Given the description of an element on the screen output the (x, y) to click on. 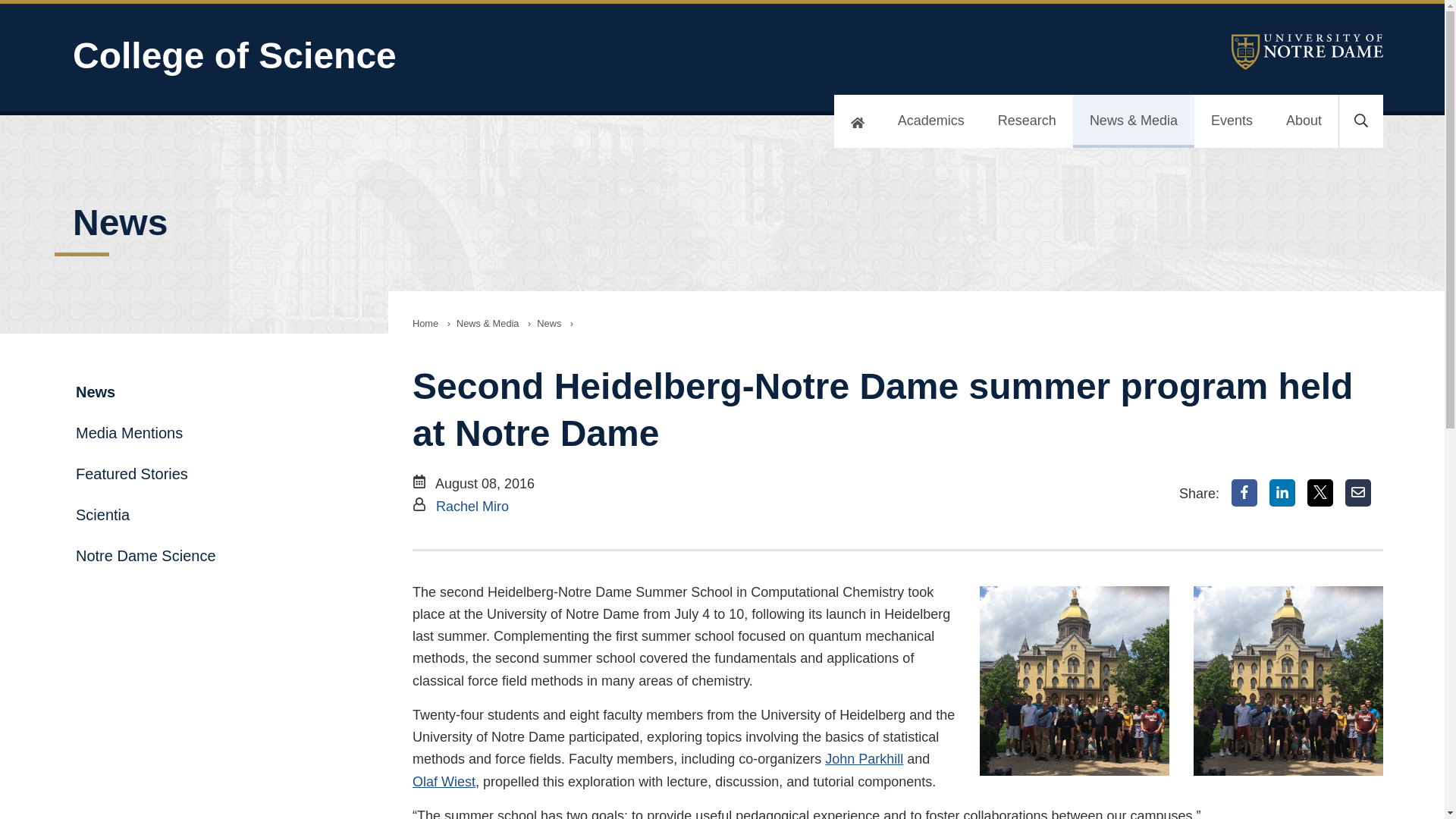
Email (1358, 492)
John Parkhill (863, 758)
Facebook (1244, 492)
College of Science (466, 55)
Research (1027, 121)
Events (1231, 121)
University of Notre Dame (1307, 51)
LinkedIn (1282, 492)
About (1303, 121)
Rachel Miro (471, 506)
News (549, 323)
Home (425, 323)
Academics (930, 121)
